Given the description of an element on the screen output the (x, y) to click on. 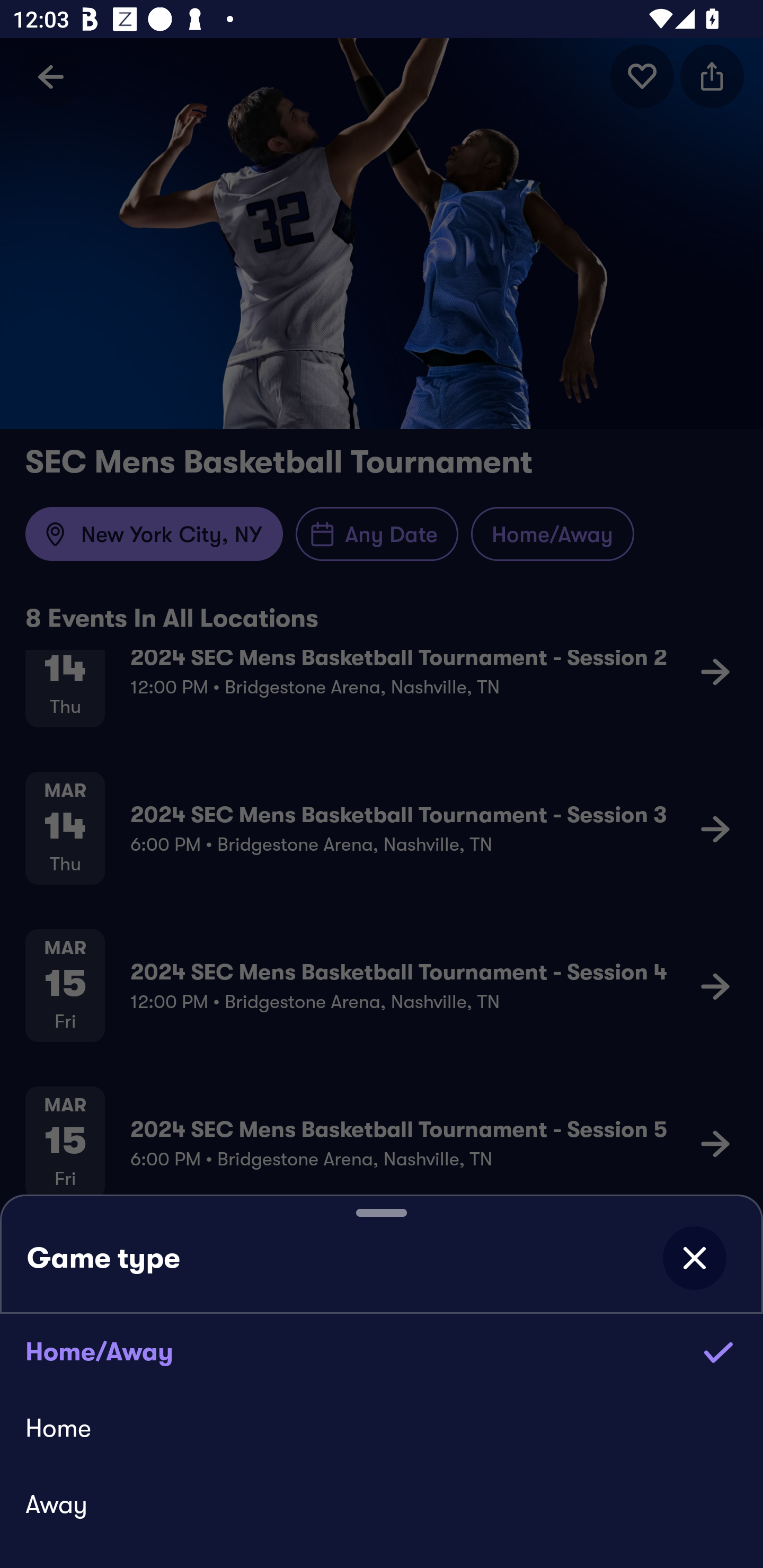
close (694, 1258)
Home/Away (381, 1351)
Home (381, 1427)
Away (381, 1504)
